Given the description of an element on the screen output the (x, y) to click on. 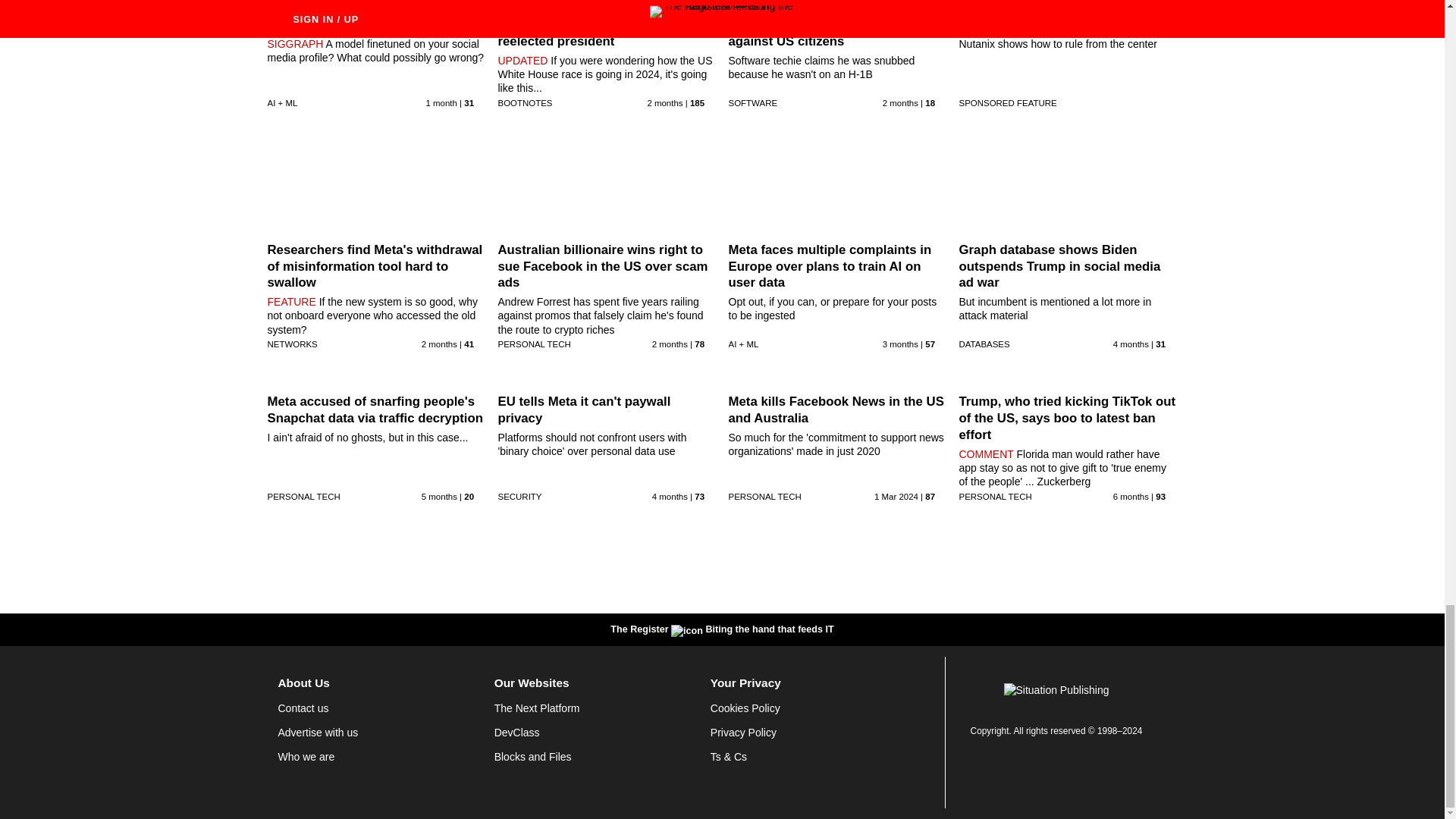
6 Jun 2024 15:45 (900, 343)
17 May 2024 19:29 (1130, 343)
30 Jul 2024 17:15 (441, 102)
27 Jun 2024 21:5 (900, 102)
11 Jul 2024 19:43 (664, 102)
18 Jun 2024 14:2 (439, 343)
20 Jun 2024 3:30 (669, 343)
